Given the description of an element on the screen output the (x, y) to click on. 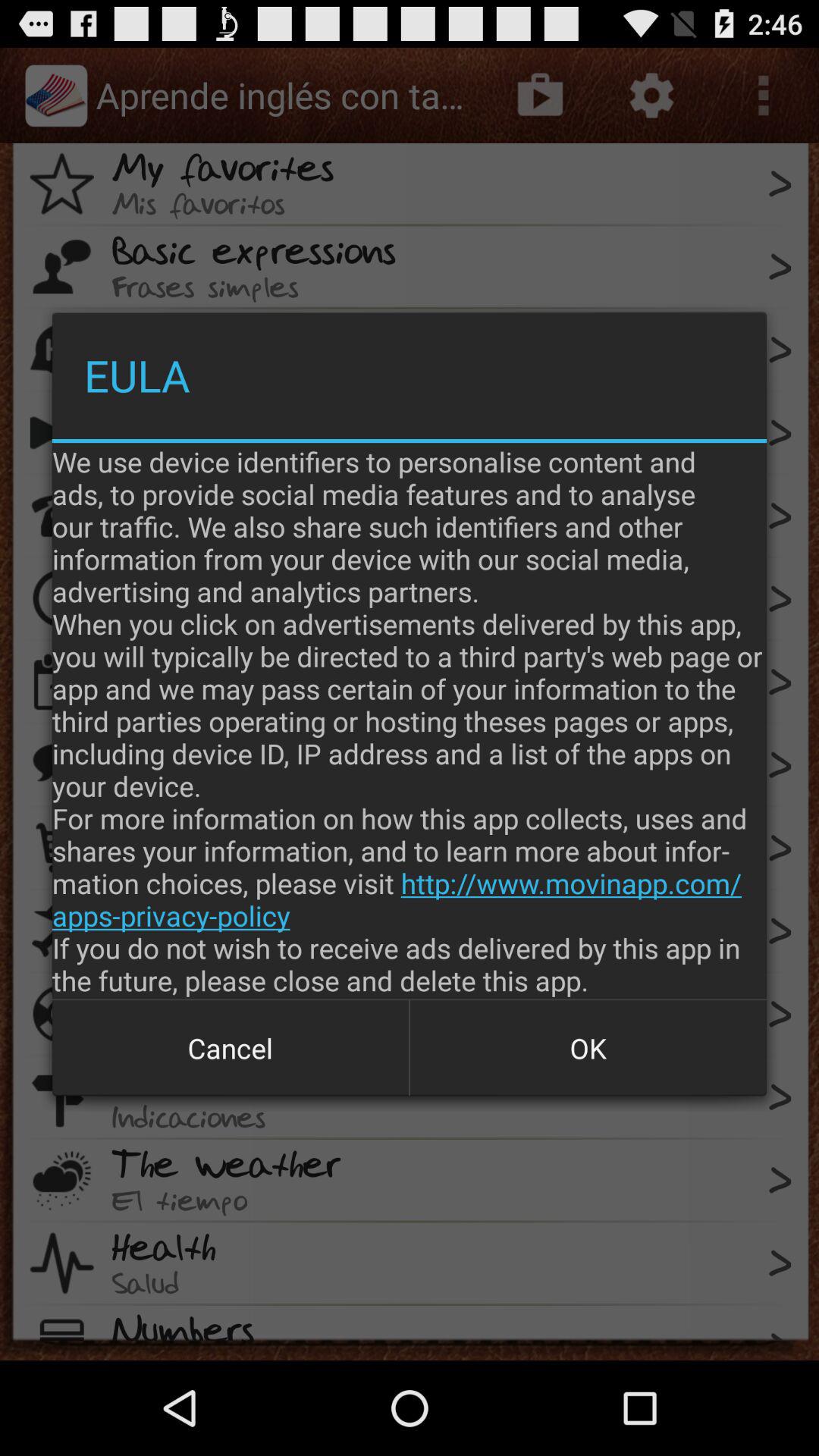
turn on item next to cancel icon (588, 1047)
